Given the description of an element on the screen output the (x, y) to click on. 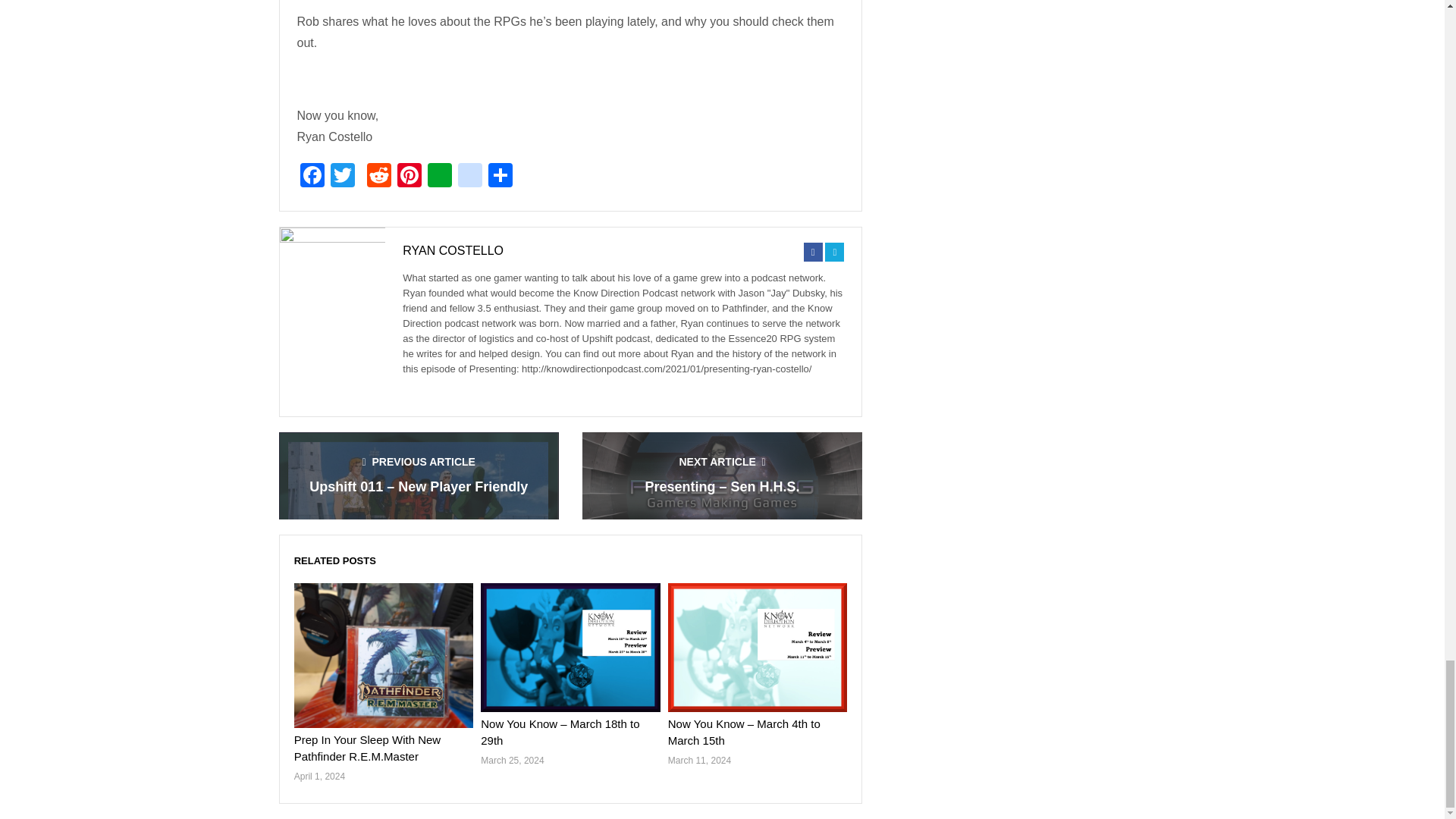
Prep In Your Sleep With New Pathfinder R.E.M.Master (367, 747)
Reddit (379, 176)
Pinterest (409, 176)
Evernote (439, 176)
Delicious (469, 176)
Twitter (342, 176)
Facebook (312, 176)
